Given the description of an element on the screen output the (x, y) to click on. 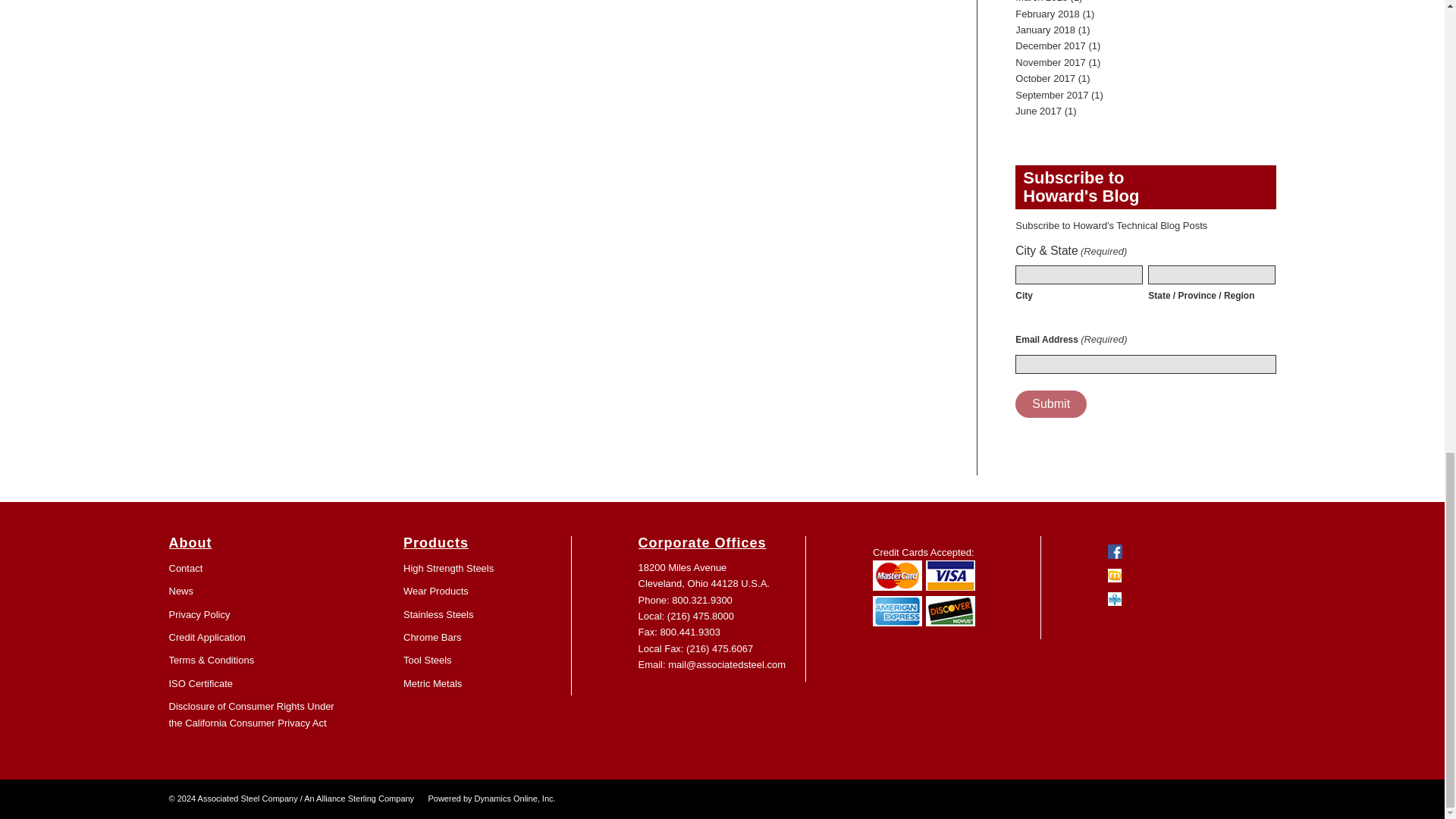
Submit (1050, 403)
